Given the description of an element on the screen output the (x, y) to click on. 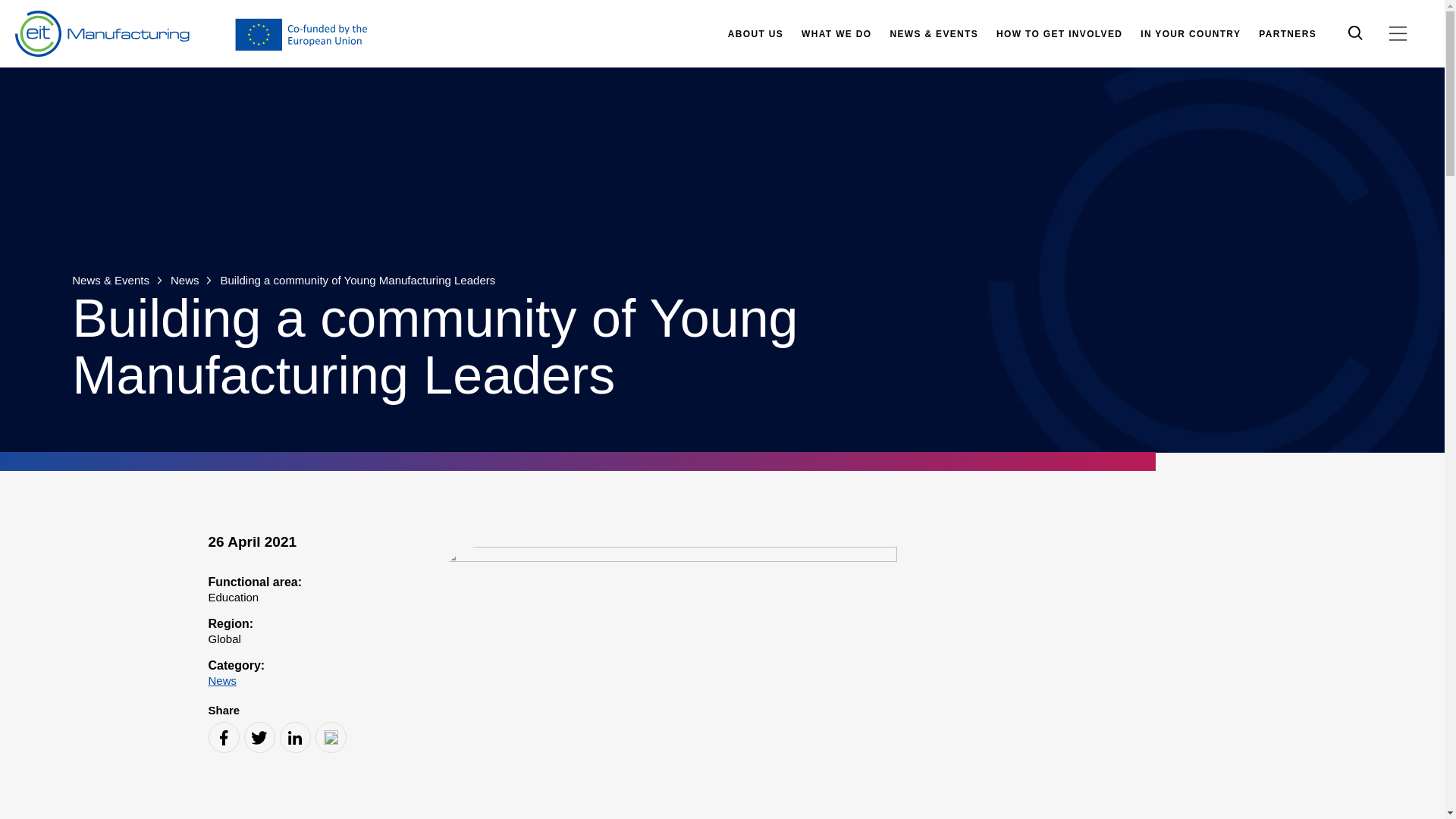
HOW TO GET INVOLVED (1059, 33)
PARTNERS (1286, 33)
ABOUT US (755, 33)
WHAT WE DO (836, 33)
IN YOUR COUNTRY (1190, 33)
